Given the description of an element on the screen output the (x, y) to click on. 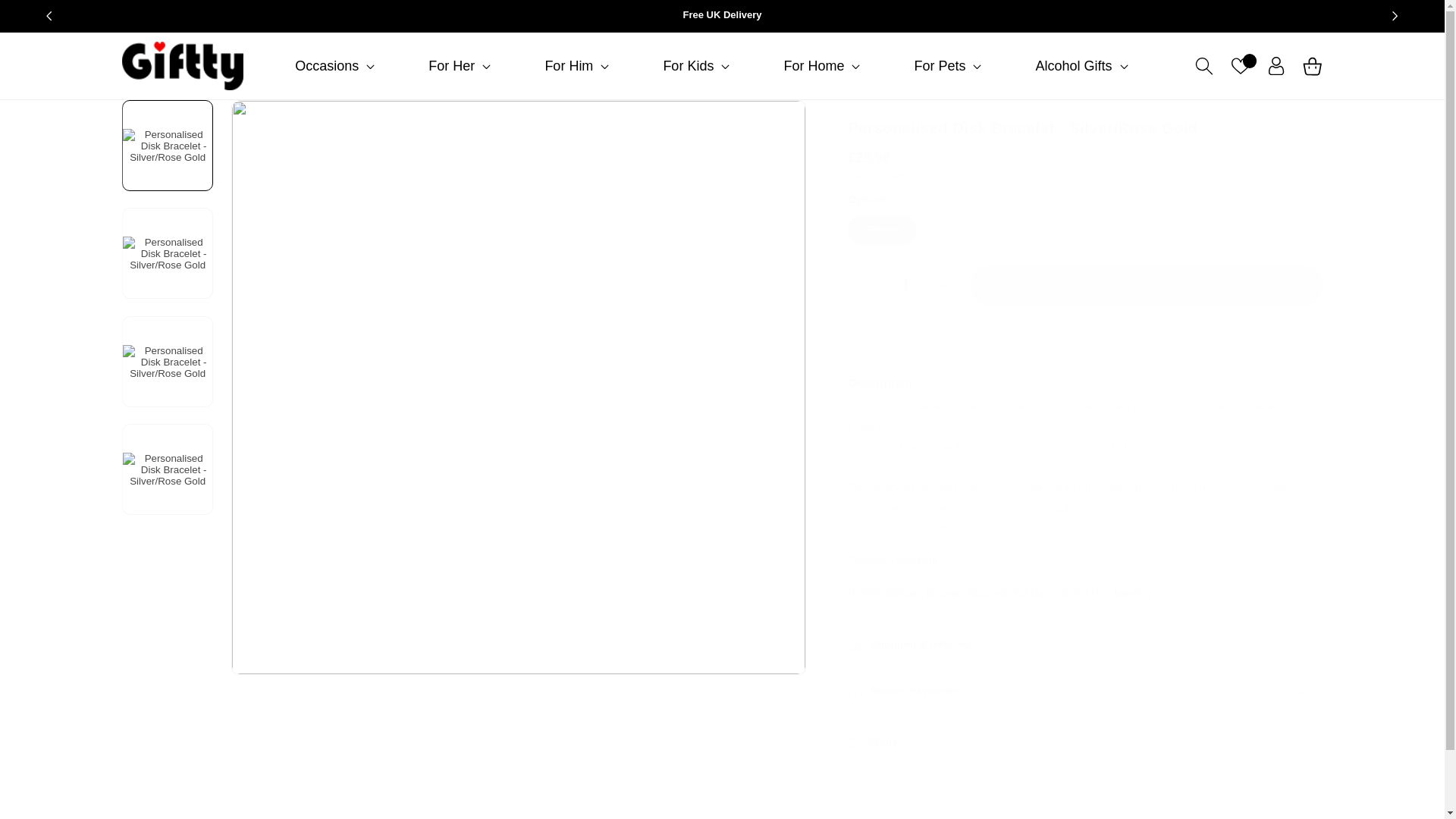
Rose Gold (973, 229)
Free UK Delivery (721, 15)
Silver (882, 229)
SKIP TO CONTENT (50, 20)
1 (905, 285)
